Given the description of an element on the screen output the (x, y) to click on. 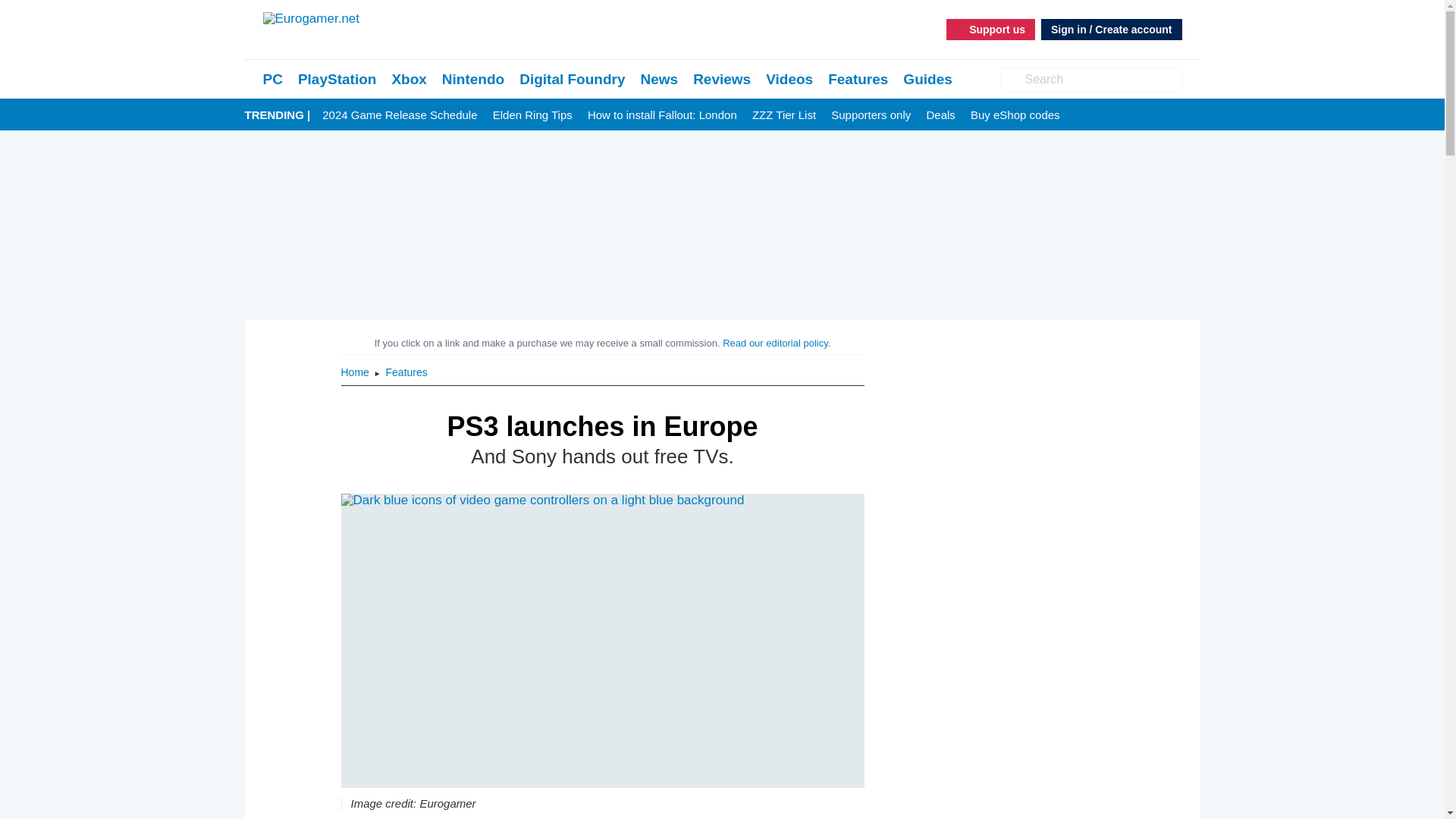
Guides (927, 78)
News (659, 78)
Digital Foundry (571, 78)
How to install Fallout: London (662, 114)
Videos (788, 78)
Nintendo (472, 78)
2024 Game Release Schedule (399, 114)
How to install Fallout: London (662, 114)
ZZZ Tier List (783, 114)
Features (858, 78)
Xbox (408, 78)
Supporters only (871, 114)
PlayStation (336, 78)
Buy eShop codes (1015, 114)
Videos (788, 78)
